Given the description of an element on the screen output the (x, y) to click on. 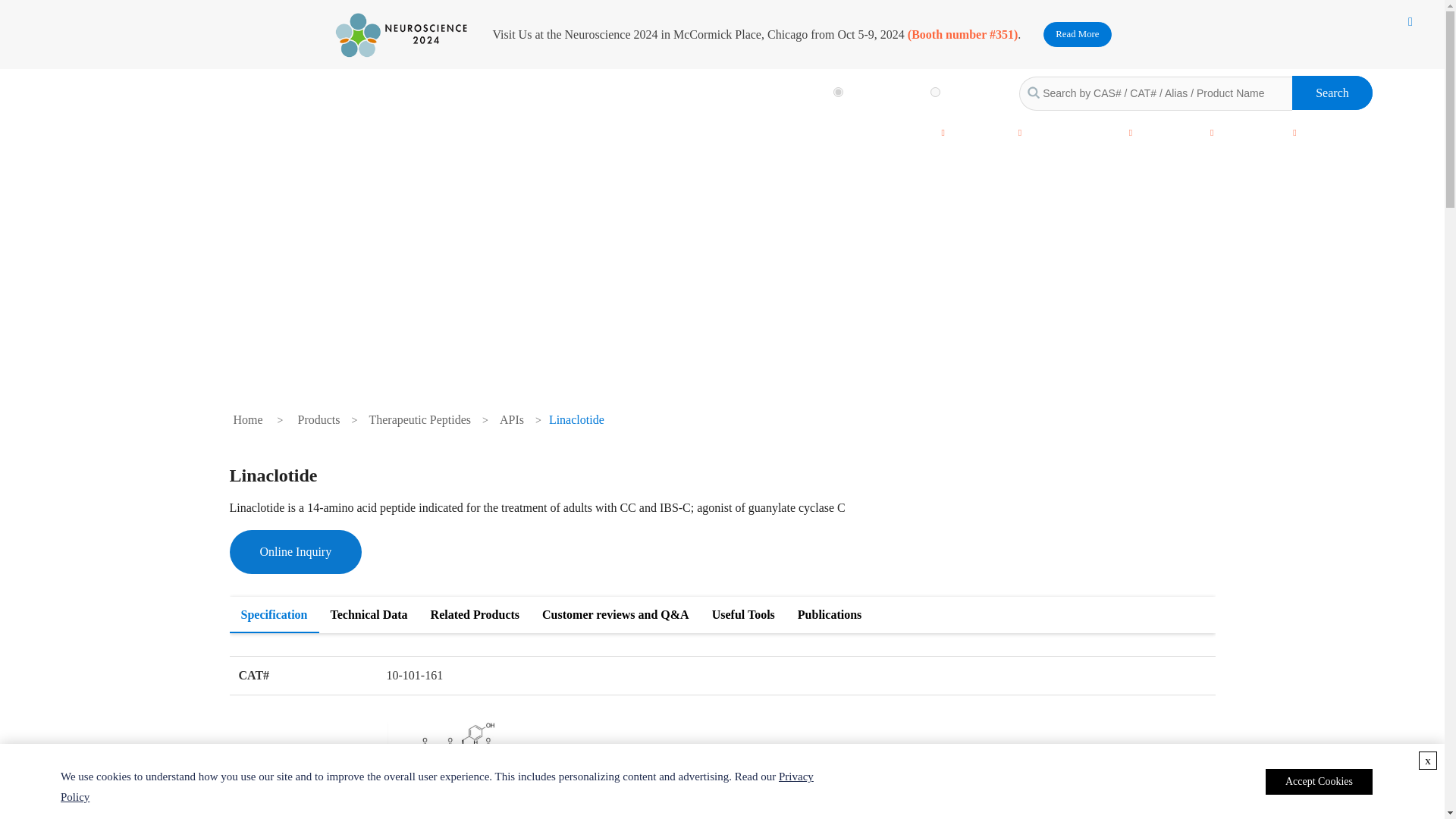
Online Inquiry (294, 551)
Search (1332, 92)
0 (837, 91)
Home (759, 131)
2 (935, 91)
Services (907, 131)
COVID-19 (831, 131)
